Given the description of an element on the screen output the (x, y) to click on. 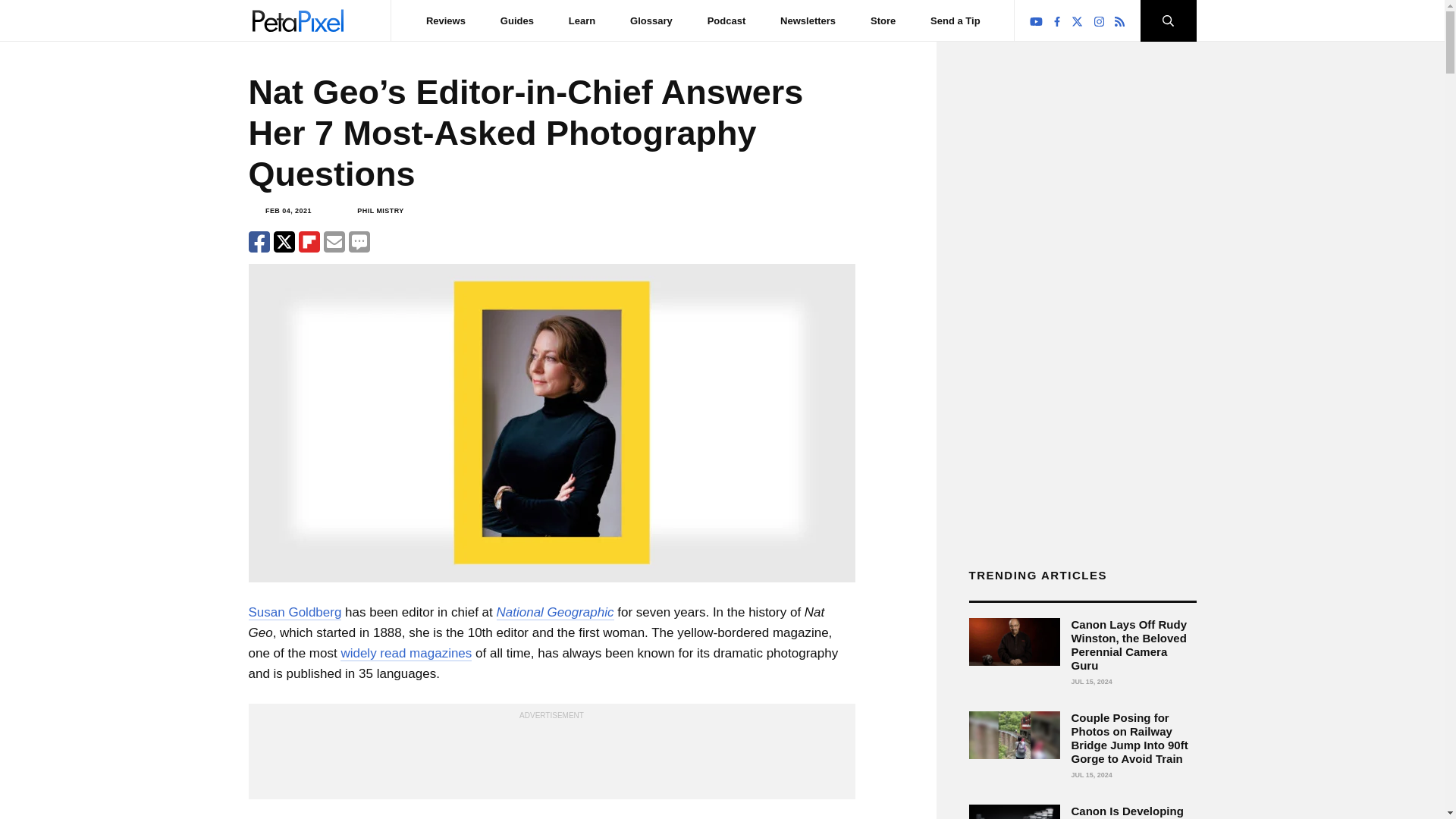
Susan Goldberg (295, 612)
Learn (582, 20)
Follow PetaPixel on X (1077, 21)
PetaPixel (296, 20)
Reviews (445, 20)
PetaPixel (296, 20)
Comments (359, 241)
Store (882, 20)
Podcast (726, 20)
Send a Tip (954, 20)
Email this article (333, 241)
Glossary (651, 20)
Guides (517, 20)
widely read magazines (405, 653)
Share on X (283, 241)
